Given the description of an element on the screen output the (x, y) to click on. 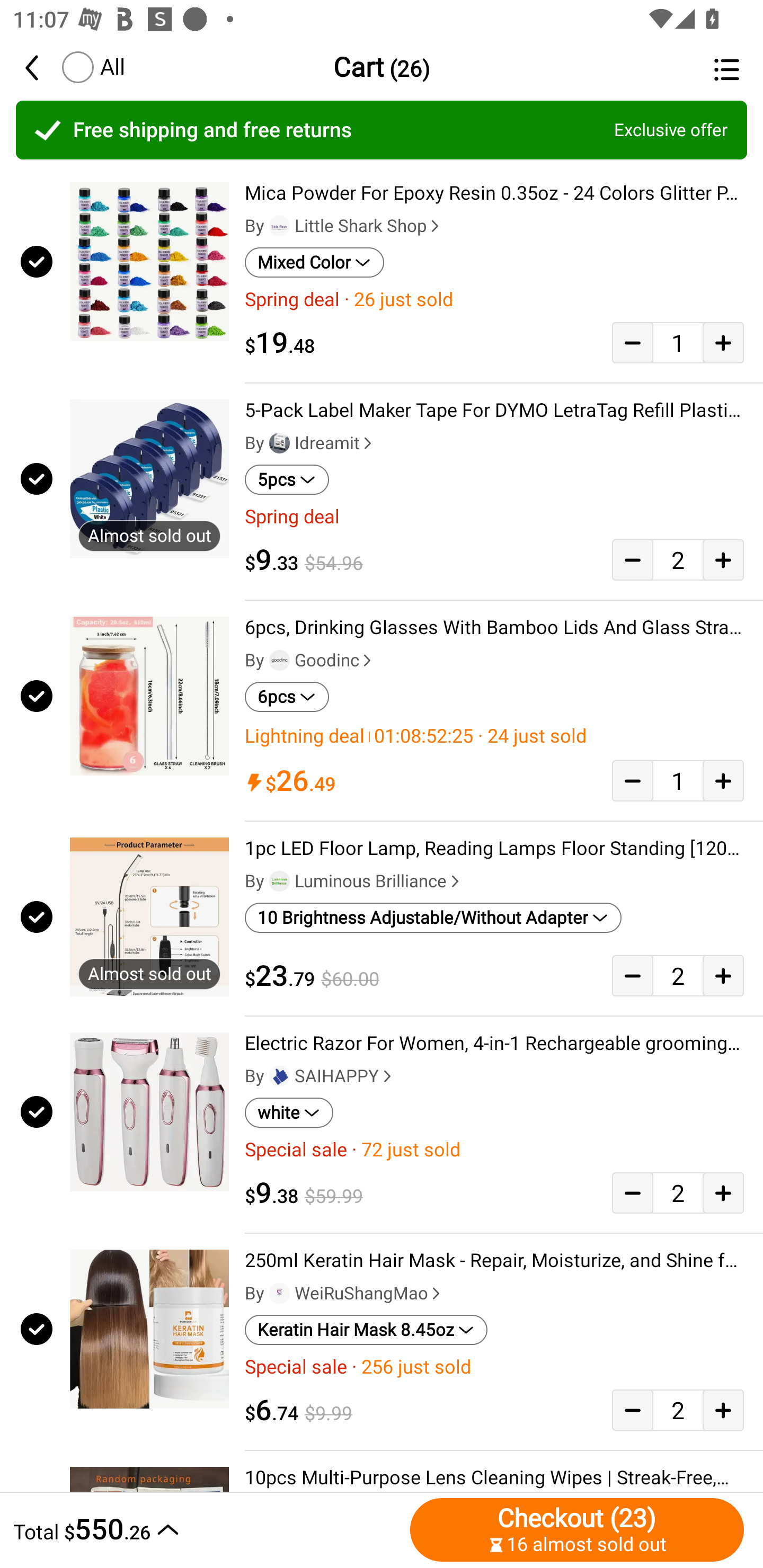
back (41, 67)
Select all tick button All (92, 67)
Free shipping and free returns Exclusive offer (381, 129)
Product checkbox checked (35, 260)
By Little Shark Shop (343, 226)
Mixed Color (313, 262)
Decrease quantity button (632, 342)
1 (677, 342)
Add quantity button (722, 342)
Product checkbox checked (35, 478)
By Idreamit (309, 442)
5pcs (286, 479)
Decrease quantity button (632, 559)
2 (677, 559)
Add quantity button (722, 559)
Product checkbox checked (35, 696)
By Goodinc (309, 660)
6pcs (286, 696)
Decrease quantity button (632, 780)
1 (677, 780)
Add quantity button (722, 780)
Product checkbox checked (35, 916)
By Luminous Brilliance (353, 881)
10 Brightness Adjustable/Without Adapter (432, 917)
Decrease quantity button (632, 974)
2 (677, 974)
Add quantity button (722, 974)
Product checkbox checked (35, 1112)
By SAIHAPPY (319, 1076)
white (288, 1112)
Special sale · 72 just sold (493, 1149)
Decrease quantity button (632, 1192)
2 (677, 1192)
Add quantity button (722, 1192)
Product checkbox checked (35, 1328)
By WeiRuShangMao (344, 1292)
Keratin Hair Mask 8.45oz (365, 1330)
Special sale · 256 just sold (493, 1367)
Decrease quantity button (632, 1409)
2 (677, 1409)
Add quantity button (722, 1409)
Total $550.26 (206, 1529)
Checkout Checkout (23) ￼16 almost sold out (576, 1529)
